Given the description of an element on the screen output the (x, y) to click on. 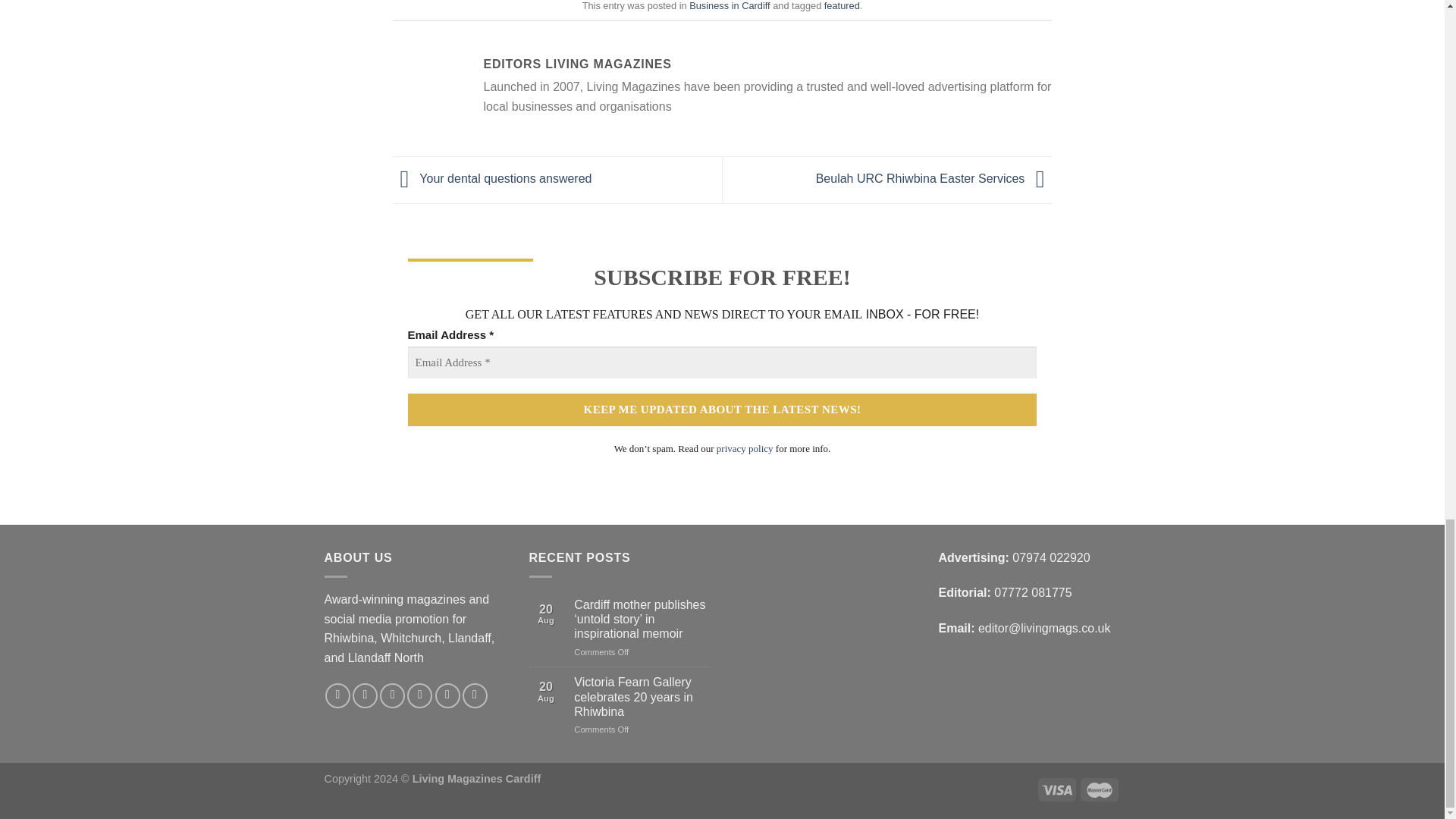
Send us an email (419, 695)
Your dental questions answered (492, 178)
featured (842, 5)
Email Address (721, 362)
Follow on Instagram (364, 695)
Follow on Twitter (392, 695)
Keep me updated about the latest news! (721, 409)
Business in Cardiff (729, 5)
Follow on Facebook (337, 695)
